Given the description of an element on the screen output the (x, y) to click on. 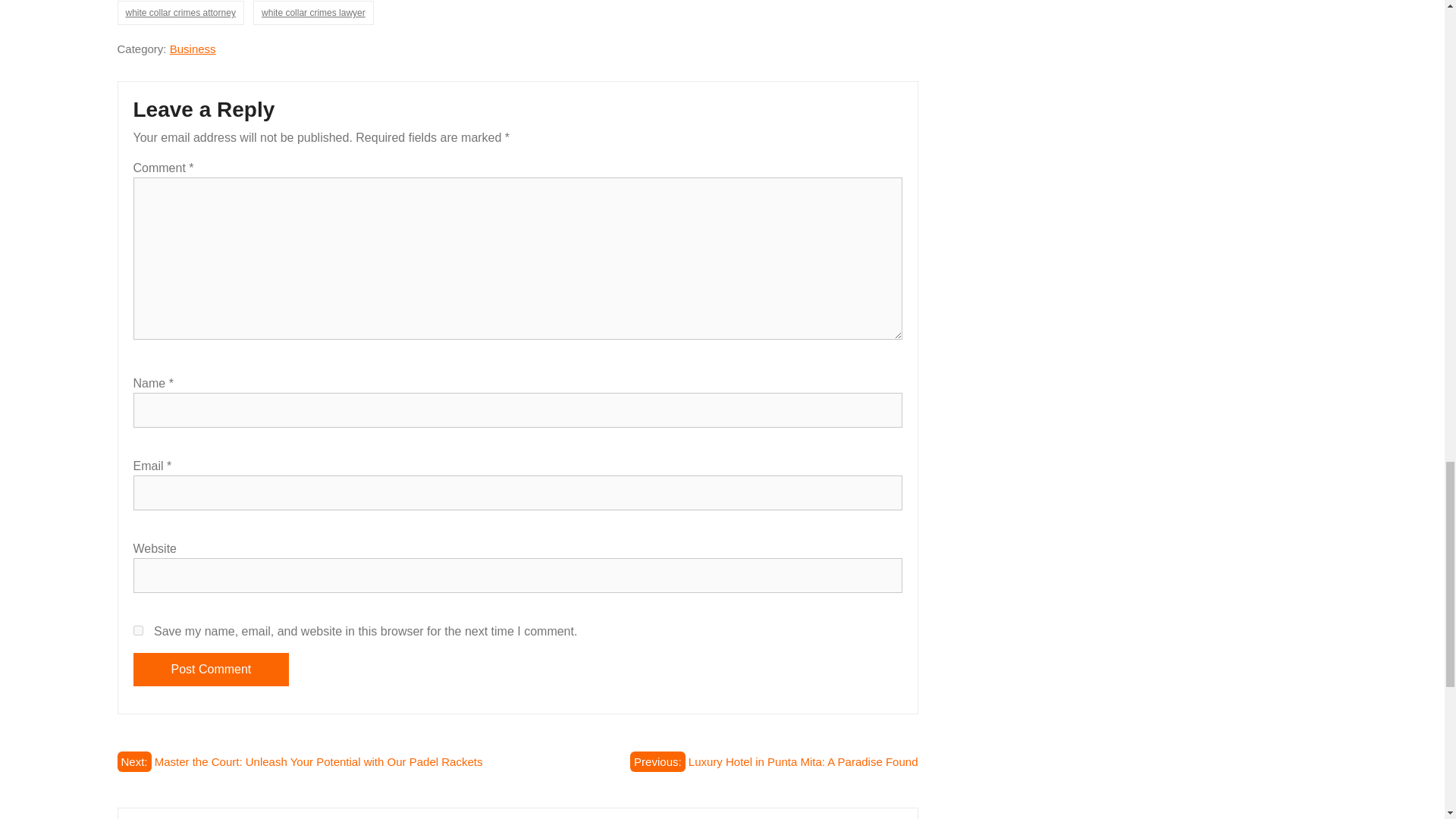
white collar crimes attorney (179, 12)
white collar crimes lawyer (313, 12)
Post Comment (211, 669)
Previous: Luxury Hotel in Punta Mita: A Paradise Found (773, 761)
Business (192, 48)
Post Comment (211, 669)
yes (137, 630)
